Given the description of an element on the screen output the (x, y) to click on. 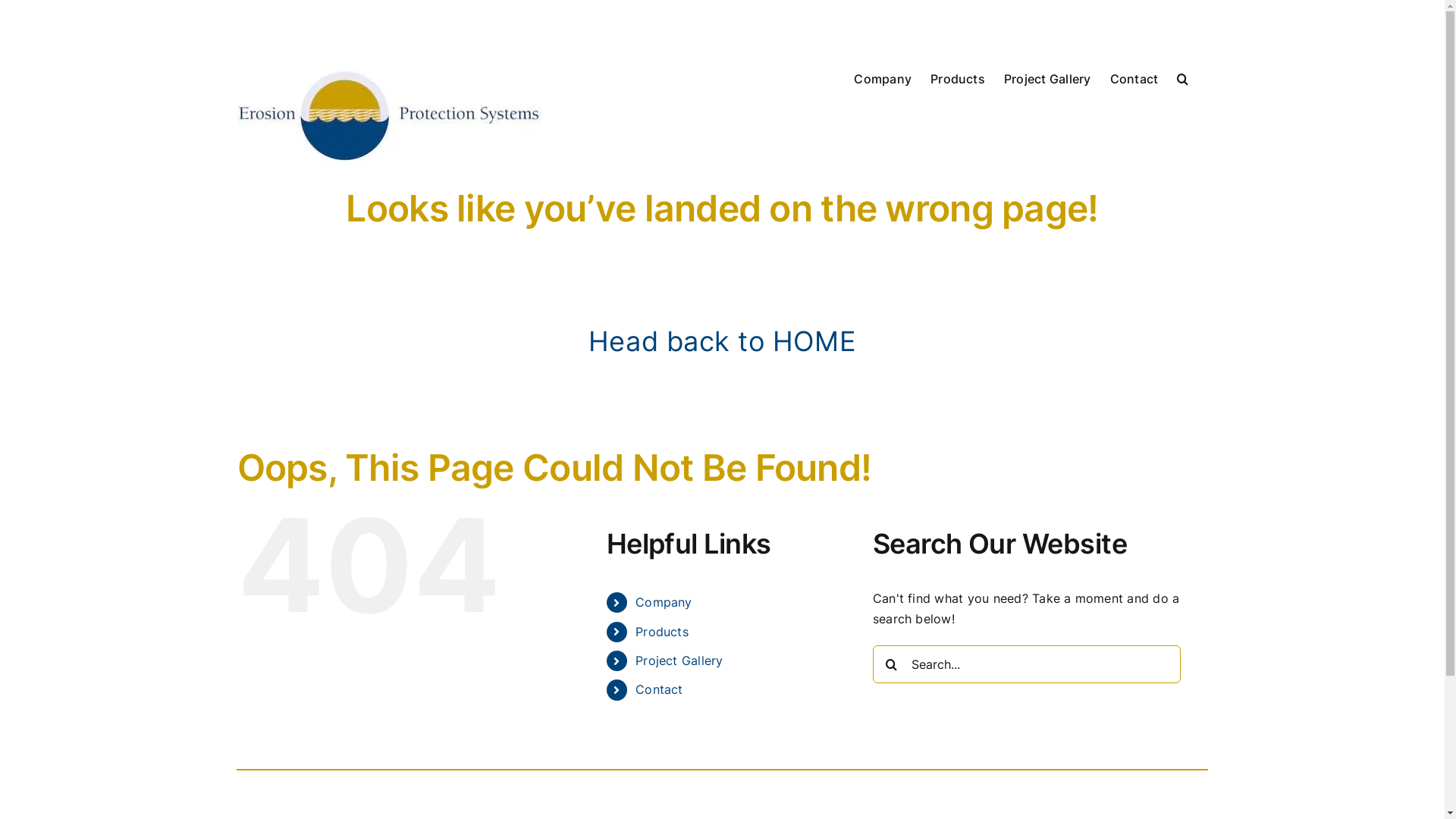
Project Gallery Element type: text (679, 660)
Search Element type: hover (1182, 77)
Contact Element type: text (1134, 77)
Project Gallery Element type: text (1047, 77)
Company Element type: text (663, 601)
Products Element type: text (957, 77)
Contact Element type: text (659, 688)
Products Element type: text (661, 631)
Company Element type: text (882, 77)
Head back to HOME Element type: text (722, 340)
